Given the description of an element on the screen output the (x, y) to click on. 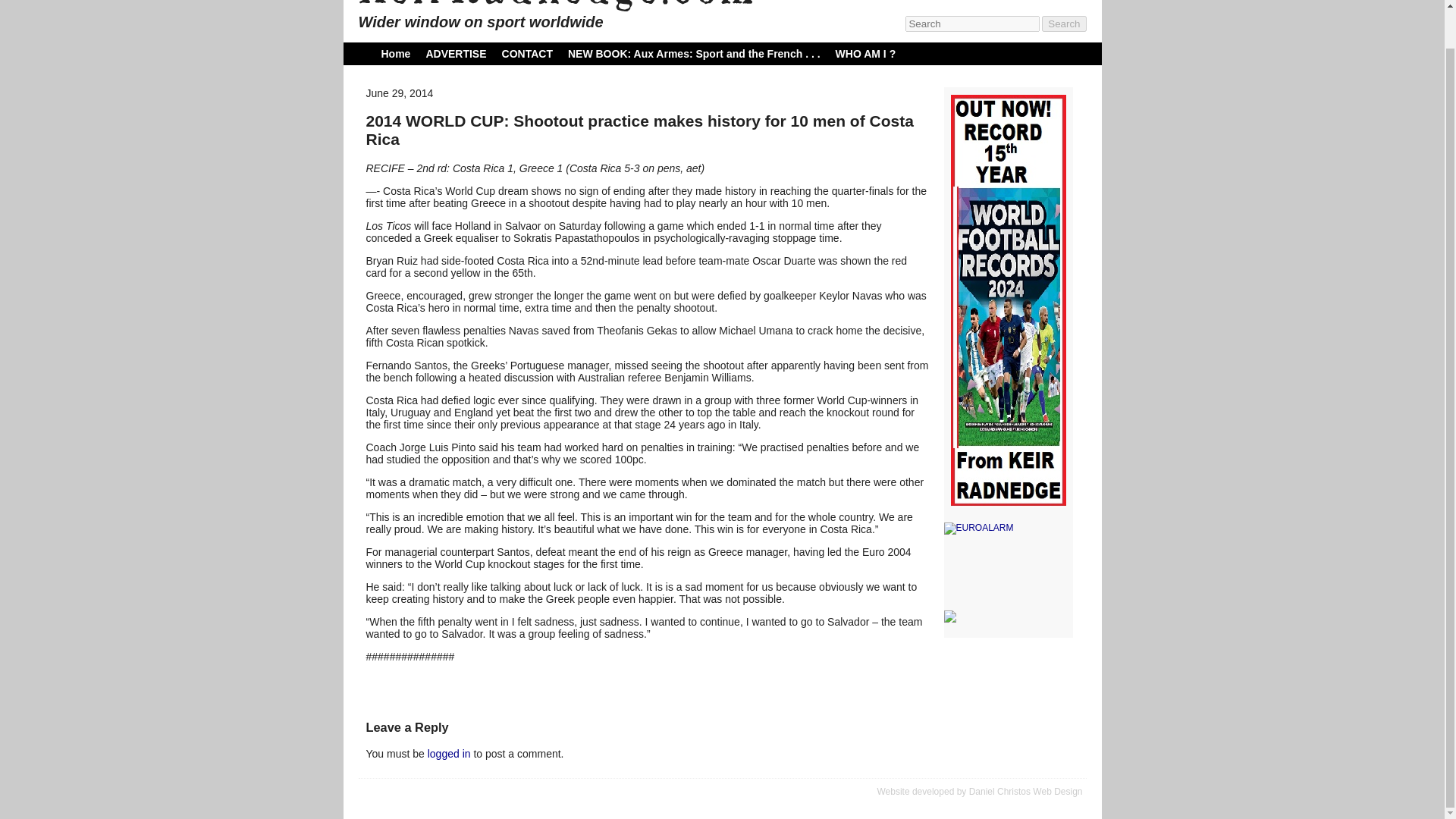
ADVERTISE (455, 53)
NEW BOOK: Aux Armes: Sport and the French . . . (694, 53)
Home (395, 53)
Search (1064, 23)
EUROALARM (1007, 528)
CONTACT (527, 53)
logged in (449, 753)
Daniel Christos Web Design (1026, 791)
Search (1064, 23)
WHO AM I ? (865, 53)
